Given the description of an element on the screen output the (x, y) to click on. 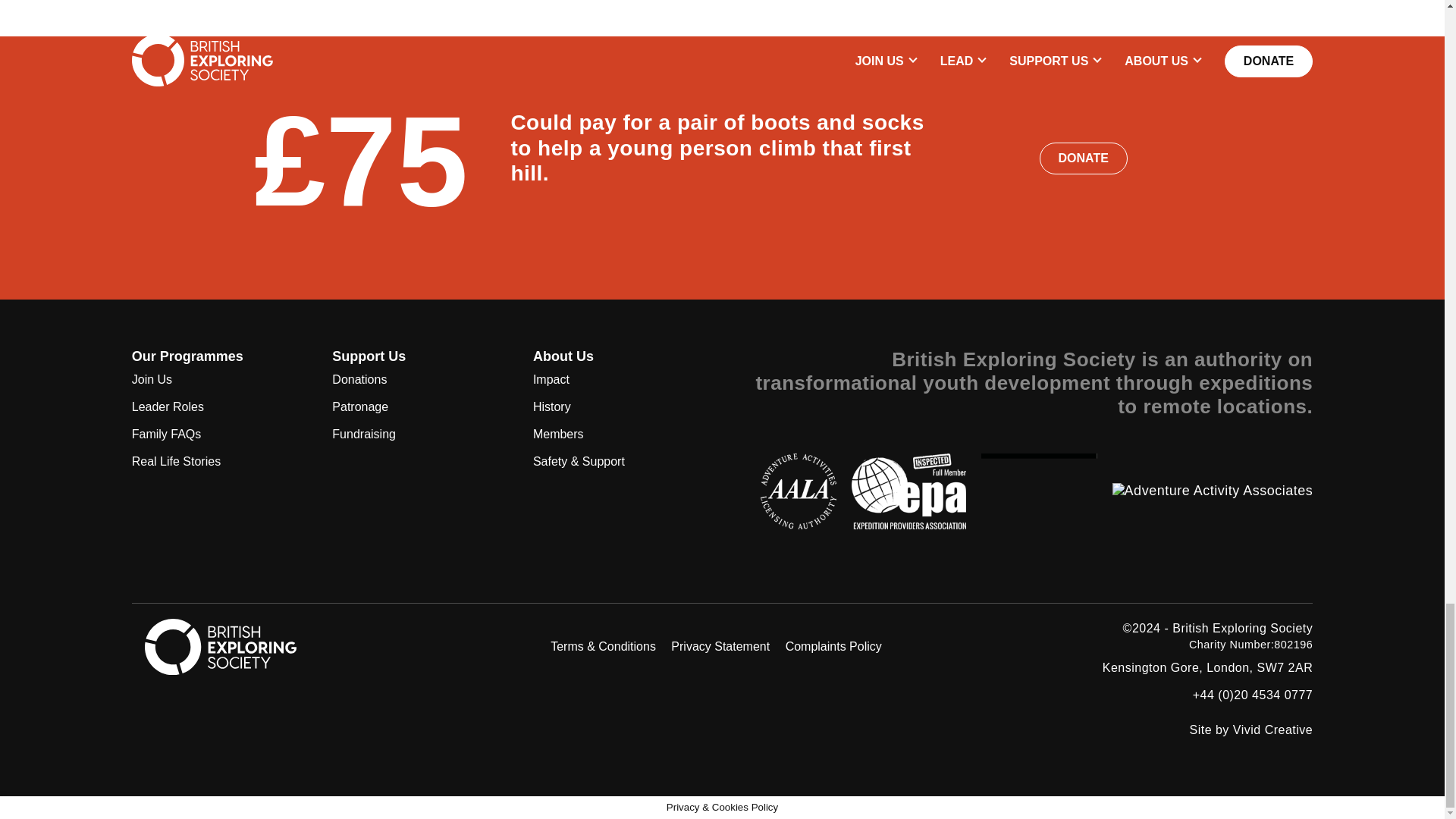
Family FAQs (221, 433)
Follow us on Facebook (384, 645)
Real Life Stories (221, 461)
Join Us (221, 379)
Call us (1252, 695)
Leader Roles (221, 406)
Follow us on Youtube (493, 645)
Donations (421, 379)
Fundraising (421, 433)
Home (221, 649)
DONATE (1082, 158)
Find out more about Adventure Activity Associates (1212, 490)
Follow us on Linkedin (457, 645)
Home (1242, 628)
